Given the description of an element on the screen output the (x, y) to click on. 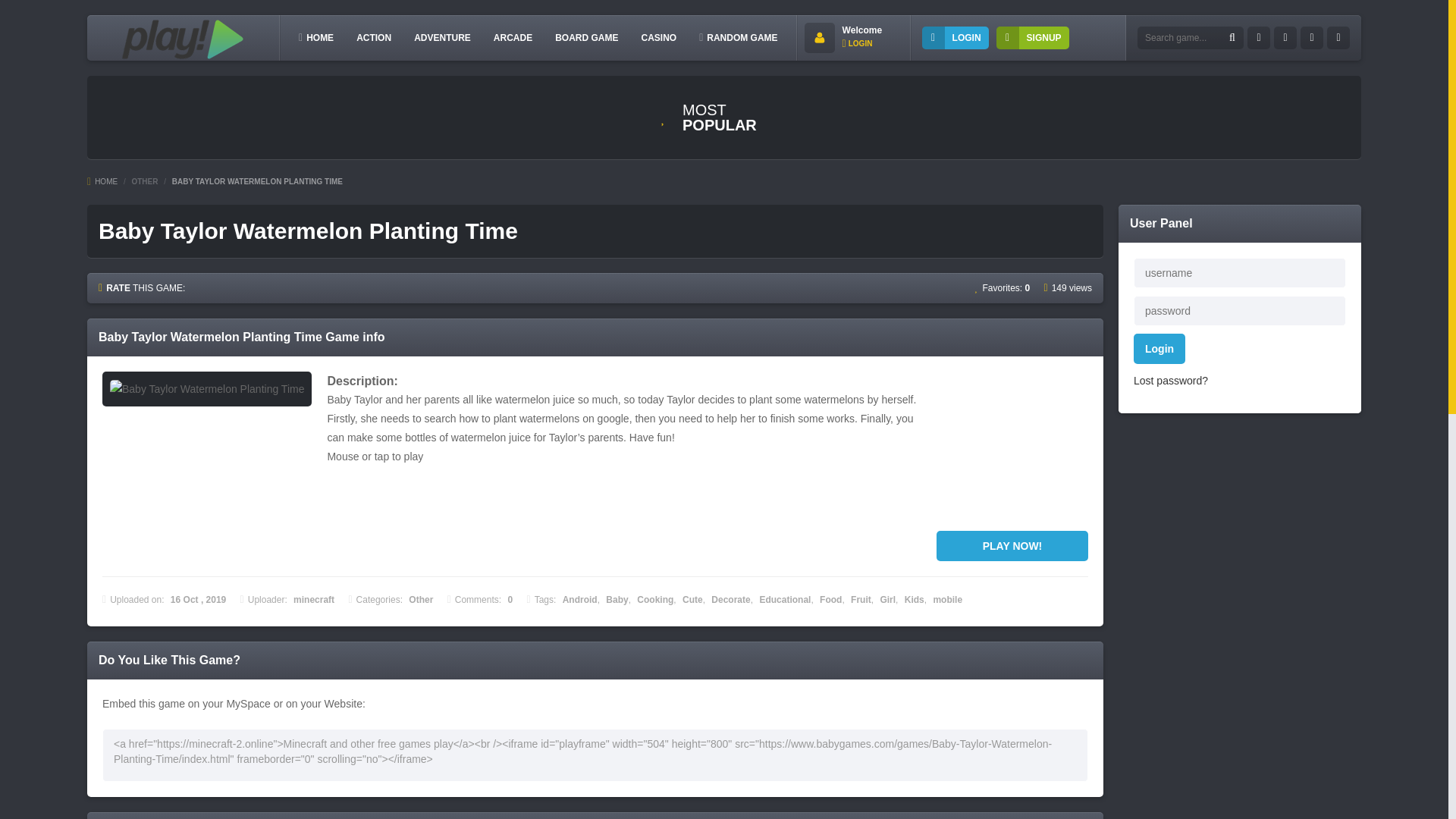
PLAY NOW! (1011, 545)
CASINO (658, 37)
Adventure (442, 37)
LOGIN (857, 43)
Action (373, 37)
Search (1232, 37)
SIGNUP (1031, 37)
RANDOM GAME (737, 37)
LOGIN (954, 37)
Casino (658, 37)
